Given the description of an element on the screen output the (x, y) to click on. 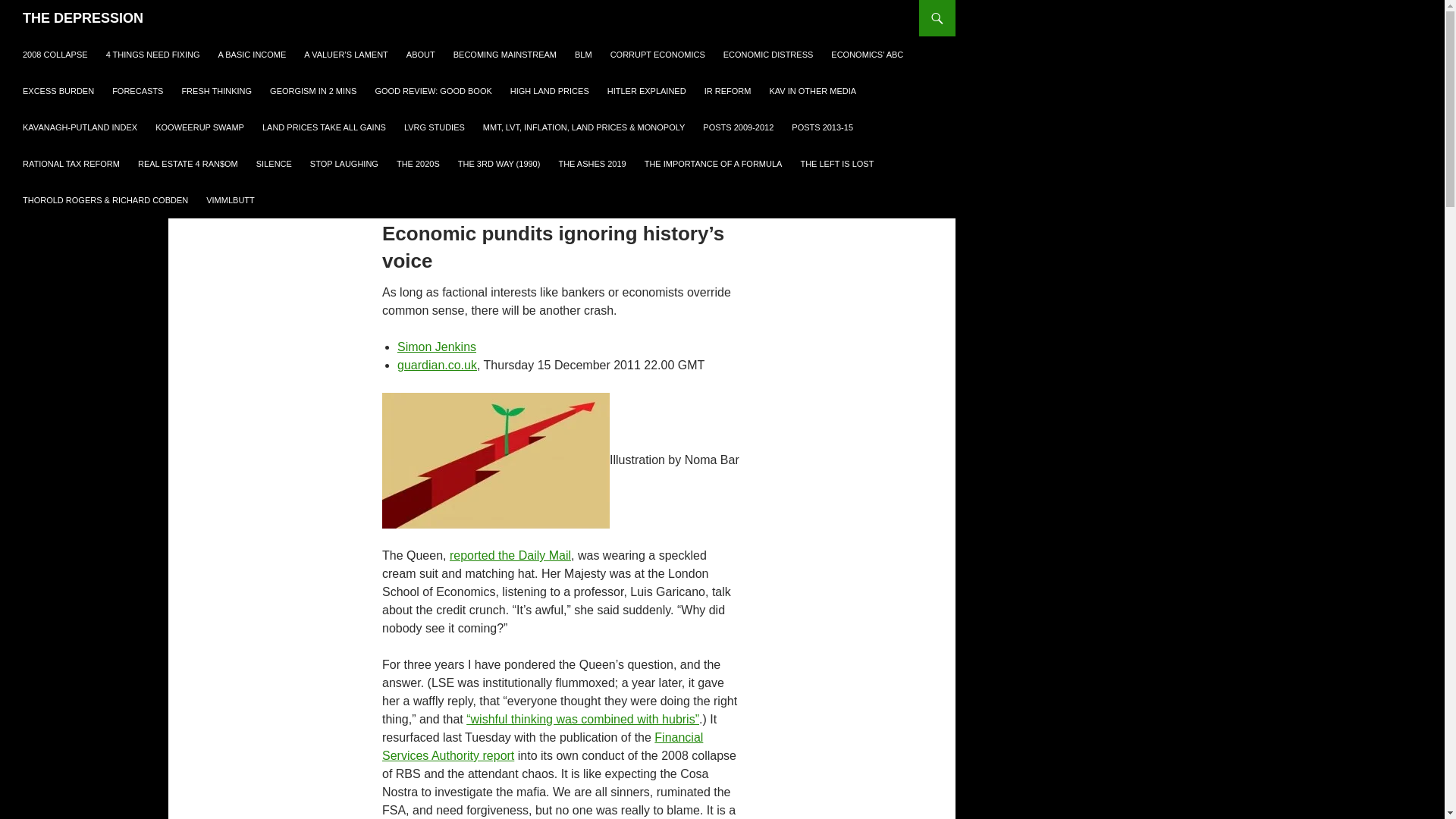
RATIONAL TAX REFORM (71, 163)
SILENCE (274, 163)
EXCESS BURDEN (58, 90)
KAVANAGH-PUTLAND INDEX (80, 126)
GEORGISM IN 2 MINS (312, 90)
POSTS 2013-15 (822, 126)
IR REFORM (727, 90)
THE 2020S (417, 163)
THE IMPORTANCE OF A FORMULA (713, 163)
THE LEFT IS LOST (836, 163)
LAND PRICES TAKE ALL GAINS (323, 126)
KOOWEERUP SWAMP (200, 126)
fracture (495, 460)
A BASIC INCOME (252, 54)
HIGH LAND PRICES (549, 90)
